Given the description of an element on the screen output the (x, y) to click on. 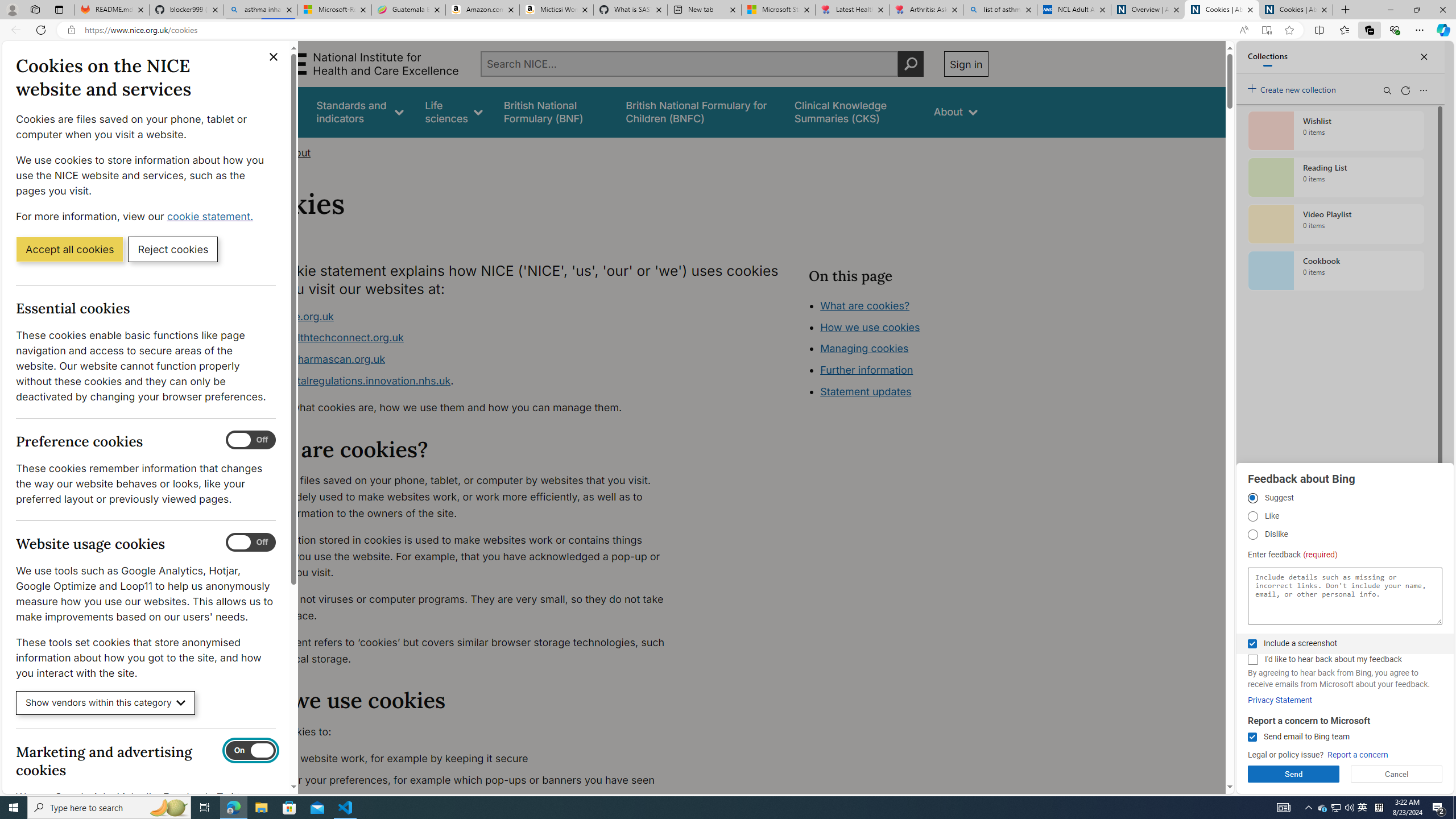
Cookies | About | NICE (1295, 9)
Accept all cookies (69, 248)
Life sciences (453, 111)
asthma inhaler - Search (260, 9)
App bar (728, 29)
www.ukpharmascan.org.uk (464, 359)
Suggest (1252, 498)
Further information (865, 369)
